Given the description of an element on the screen output the (x, y) to click on. 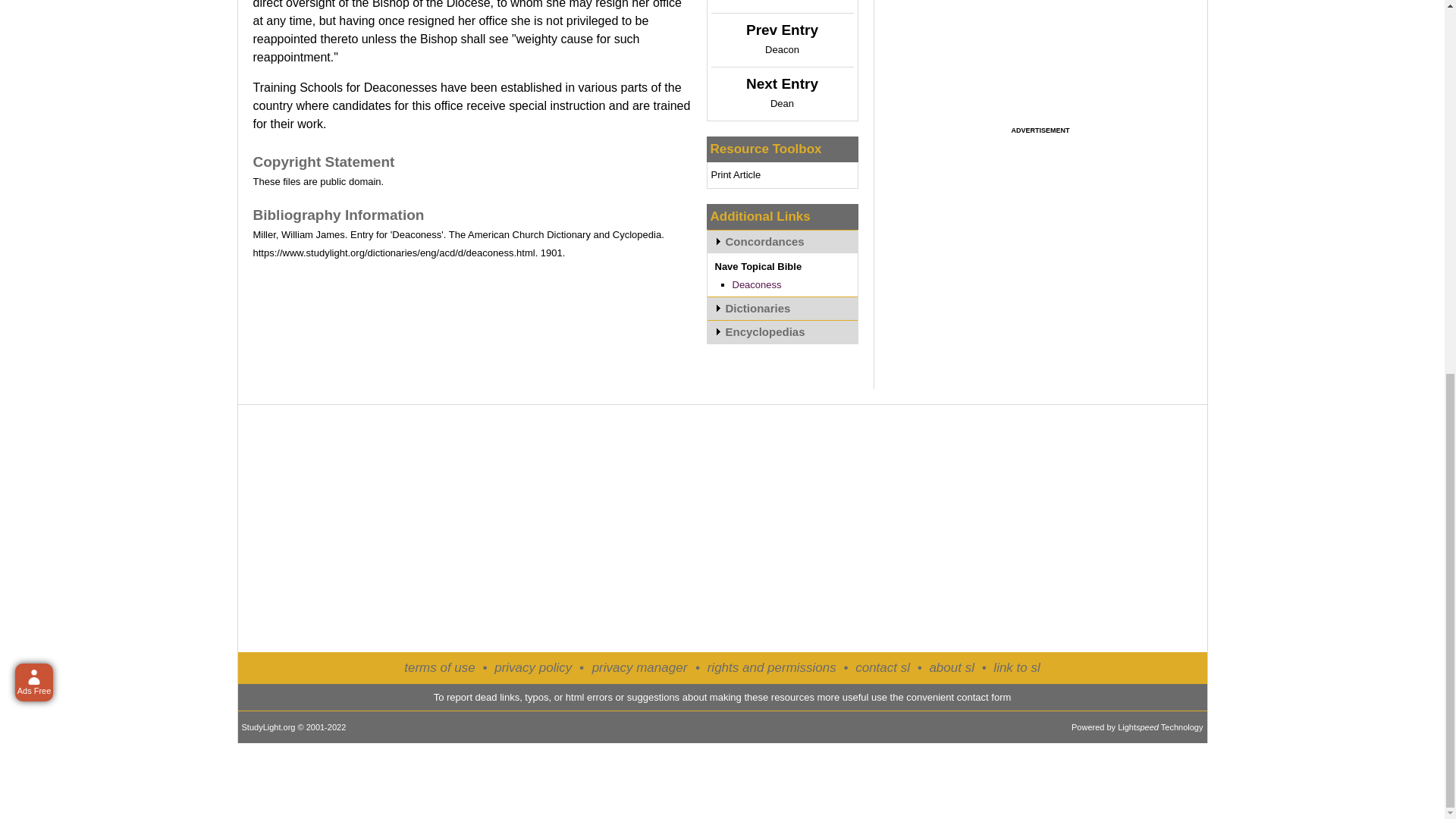
Print Article (736, 174)
Dean (781, 102)
Deaconess (756, 284)
Concordances (781, 241)
Deacon (782, 49)
Dictionaries (781, 308)
